Given the description of an element on the screen output the (x, y) to click on. 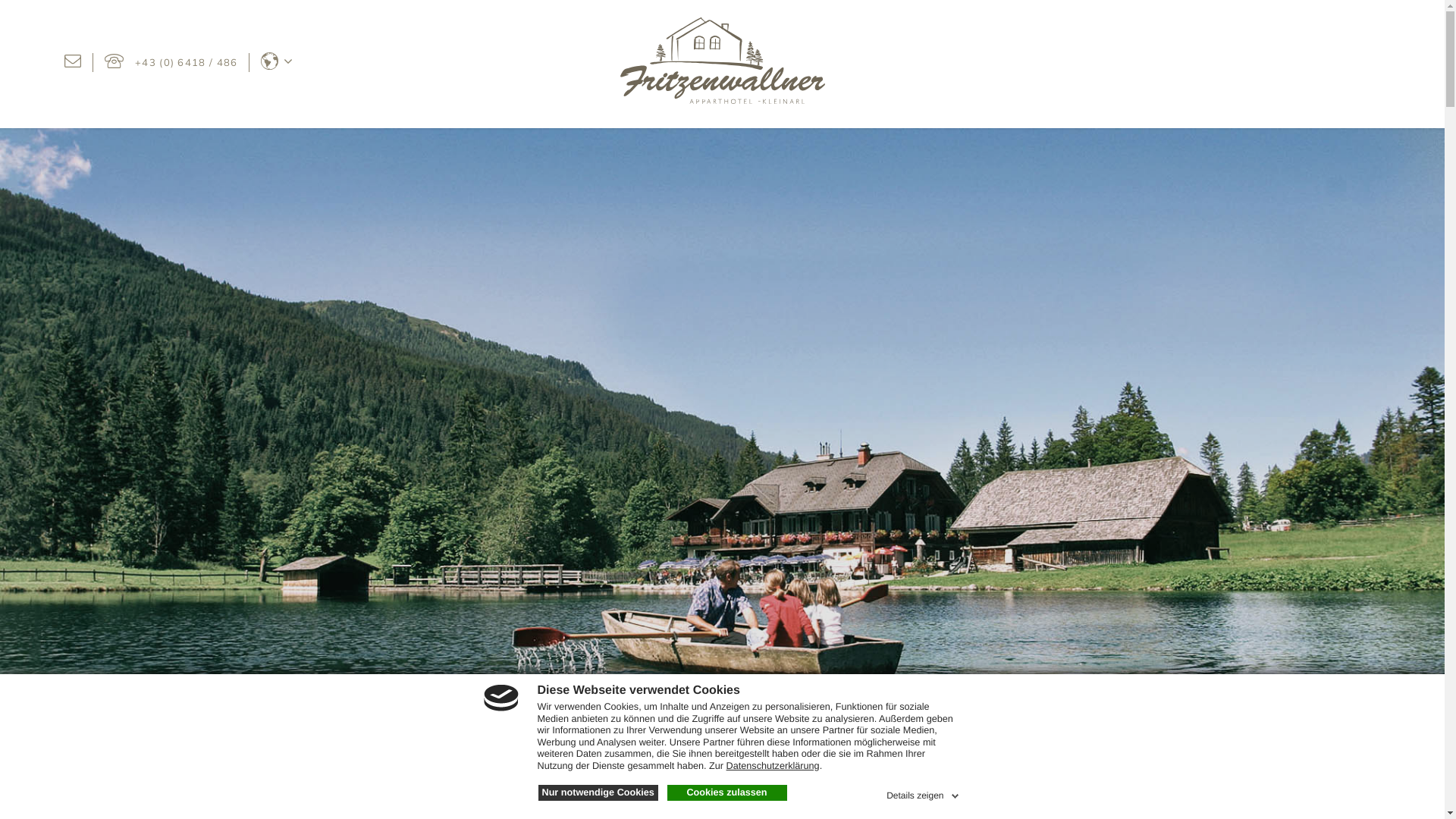
Nur notwendige Cookies Element type: text (598, 792)
Details zeigen Element type: text (923, 792)
+43 (0) 6418 / 486 Element type: text (171, 62)
Startseite Element type: hover (721, 99)
Cookies zulassen Element type: text (727, 792)
